Given the description of an element on the screen output the (x, y) to click on. 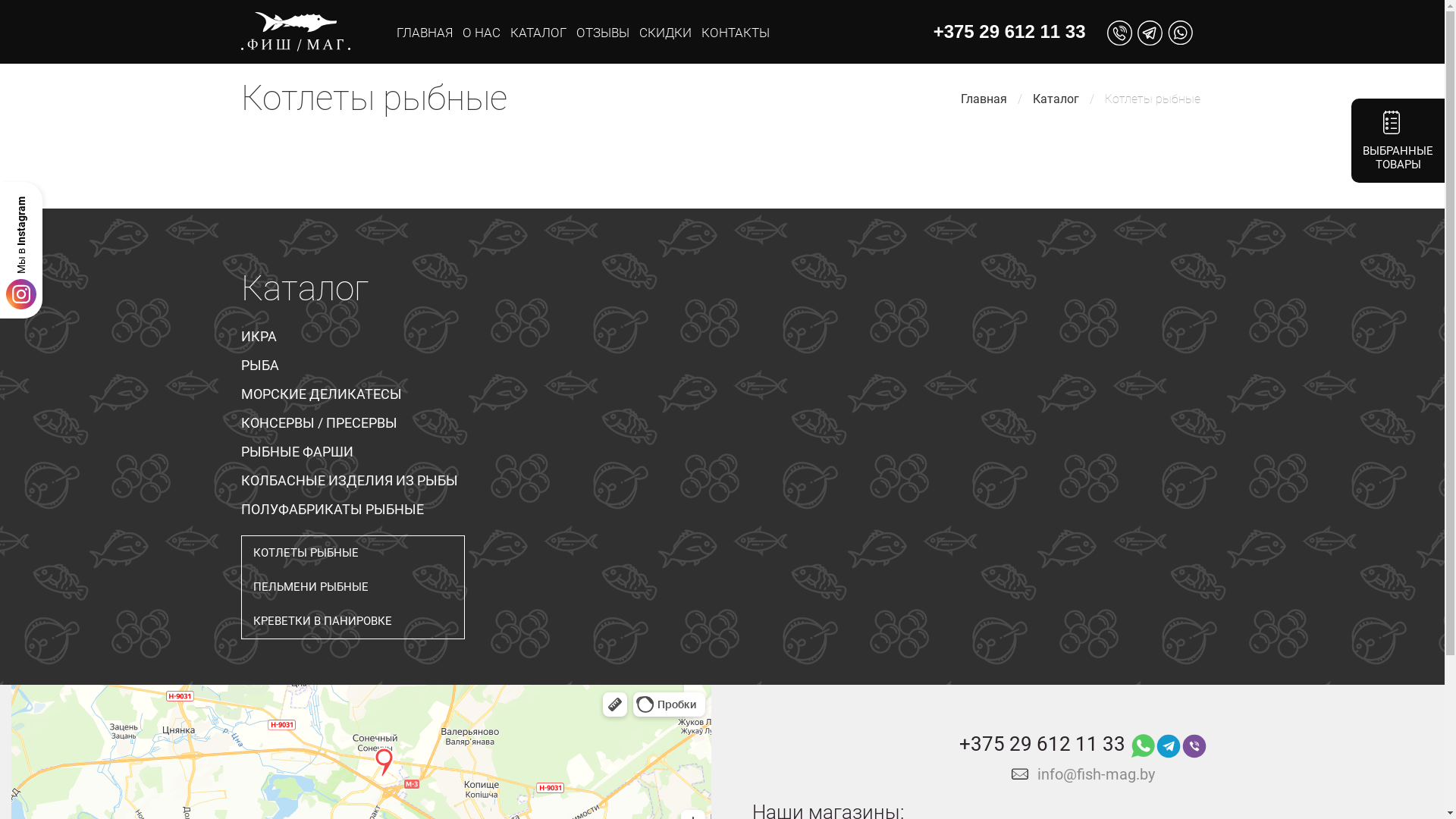
+375 29 612 11 33 Element type: text (1009, 31)
info@fish-mag.by Element type: text (1095, 774)
+375 29 612 11 33 Element type: text (1042, 749)
